Given the description of an element on the screen output the (x, y) to click on. 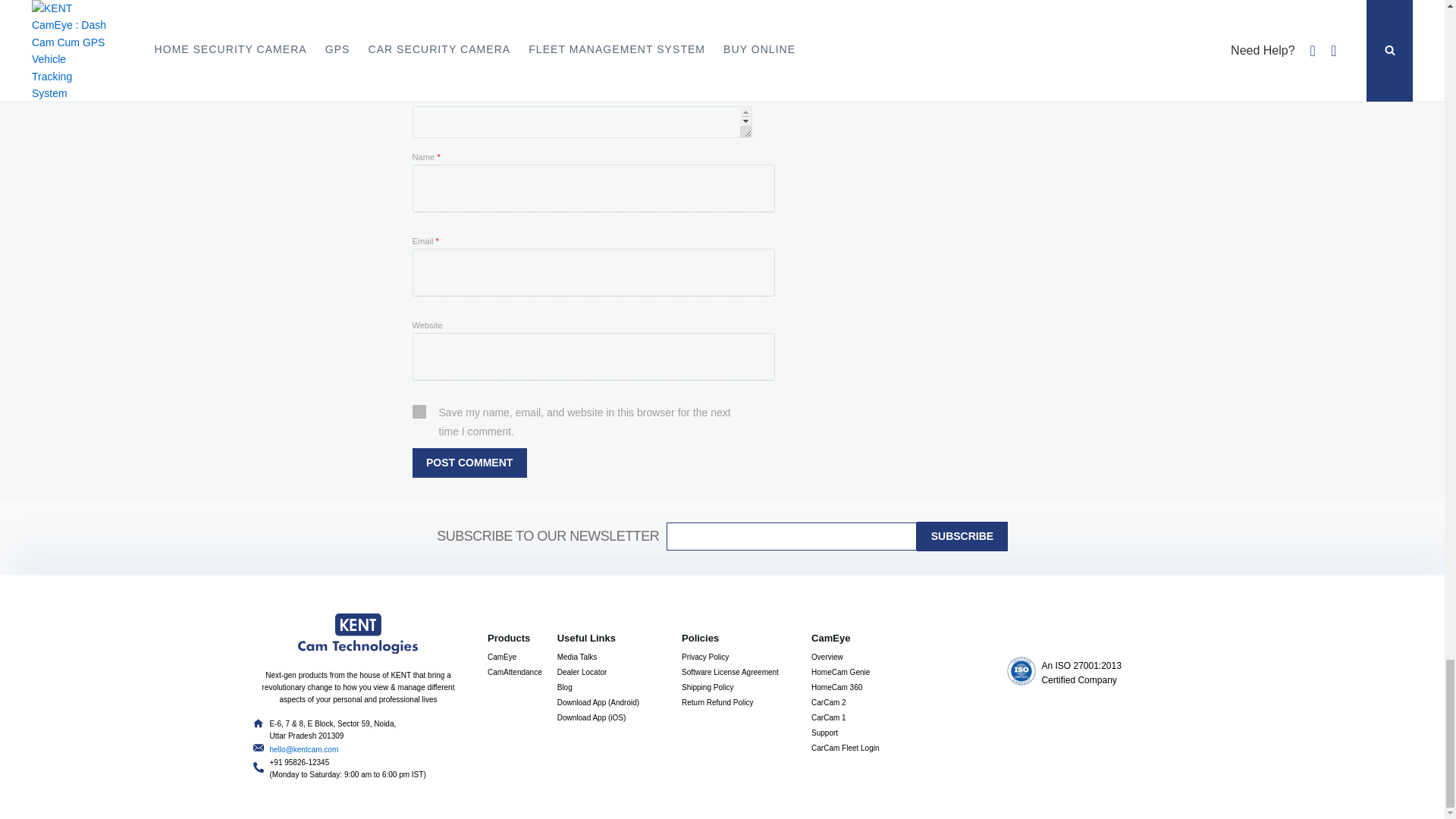
Post Comment (469, 462)
Subscribe (962, 536)
